Given the description of an element on the screen output the (x, y) to click on. 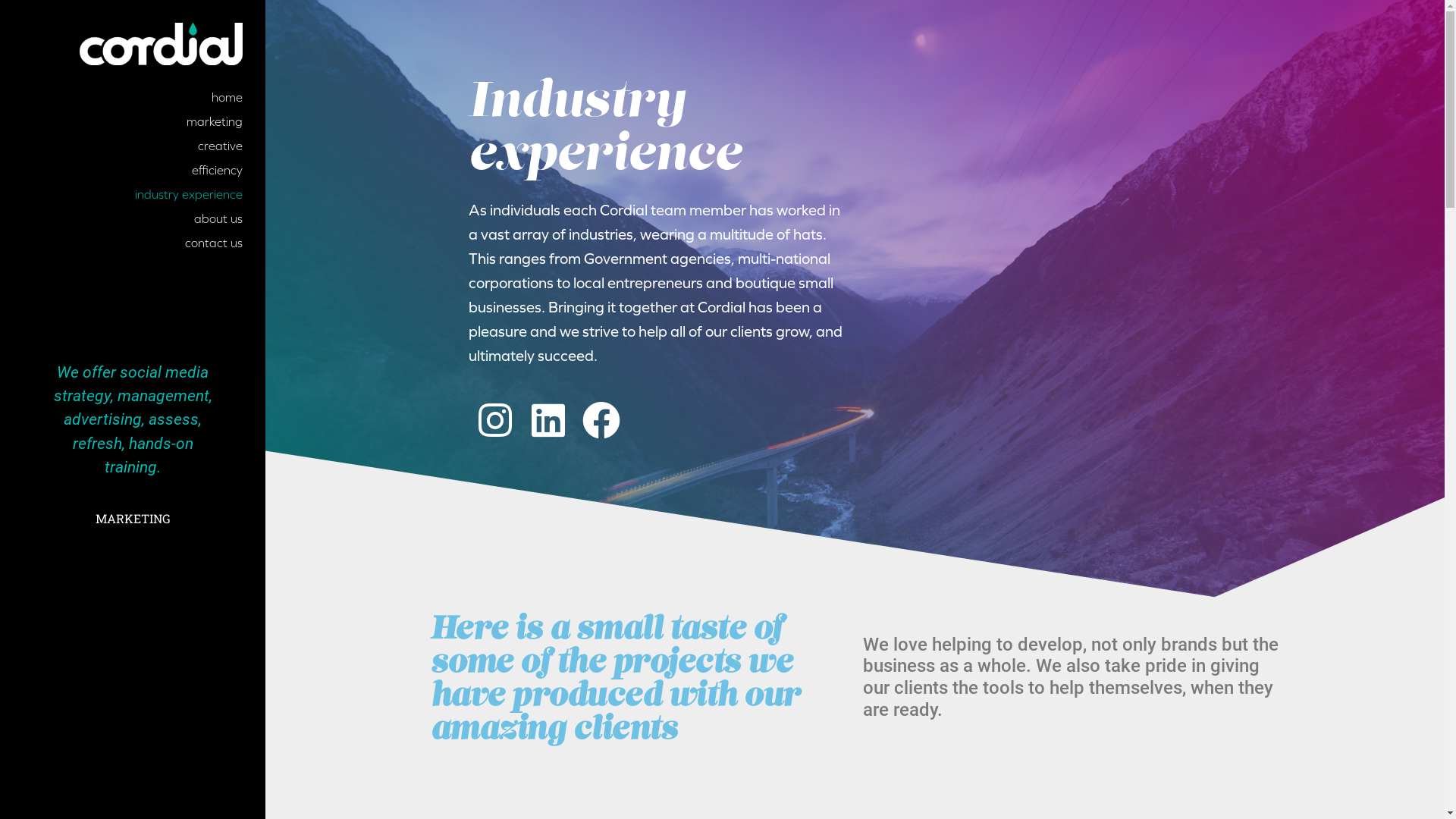
marketing Element type: text (132, 121)
contact us Element type: text (132, 242)
about us Element type: text (132, 218)
efficiency Element type: text (132, 169)
home Element type: text (132, 96)
creative Element type: text (132, 145)
industry experience Element type: text (132, 194)
